Given the description of an element on the screen output the (x, y) to click on. 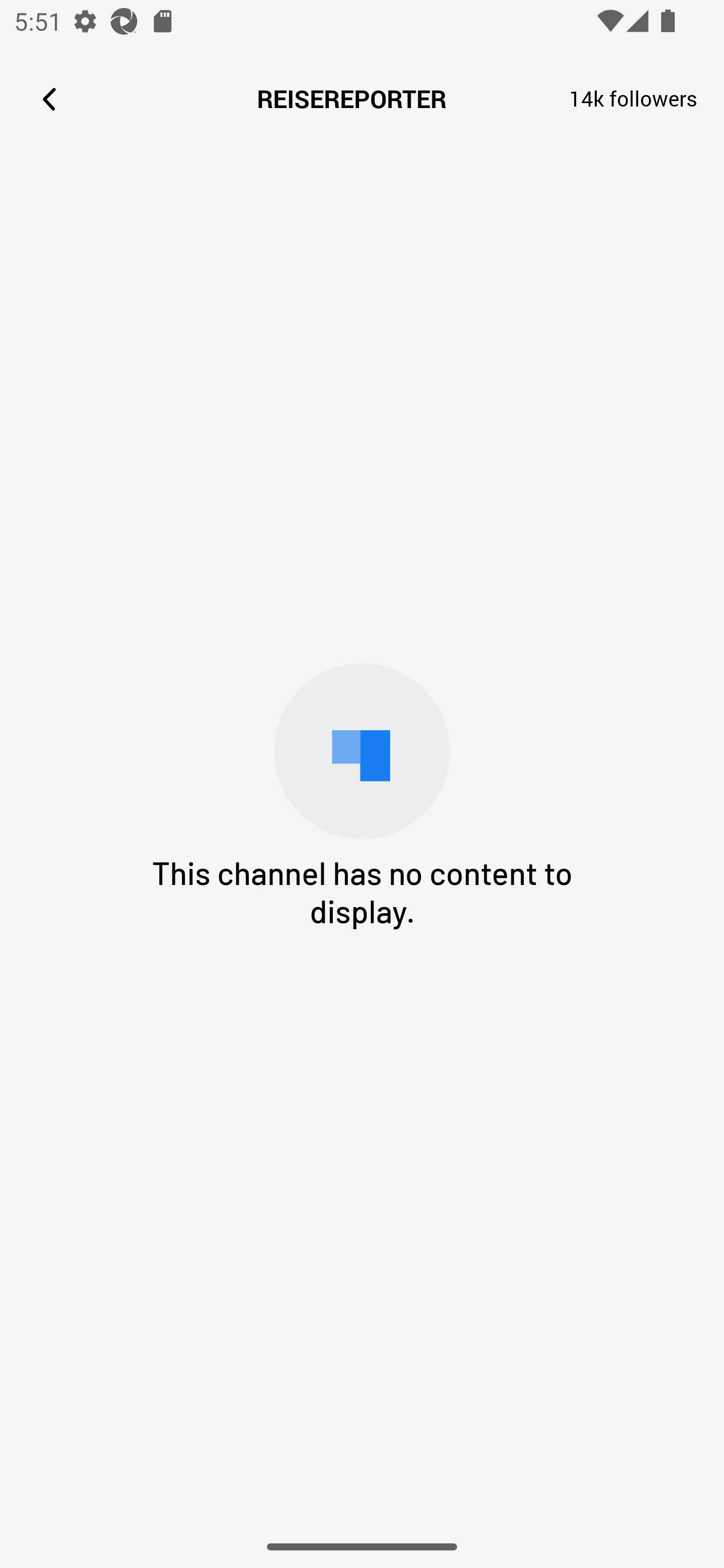
Leading Icon (49, 98)
